Given the description of an element on the screen output the (x, y) to click on. 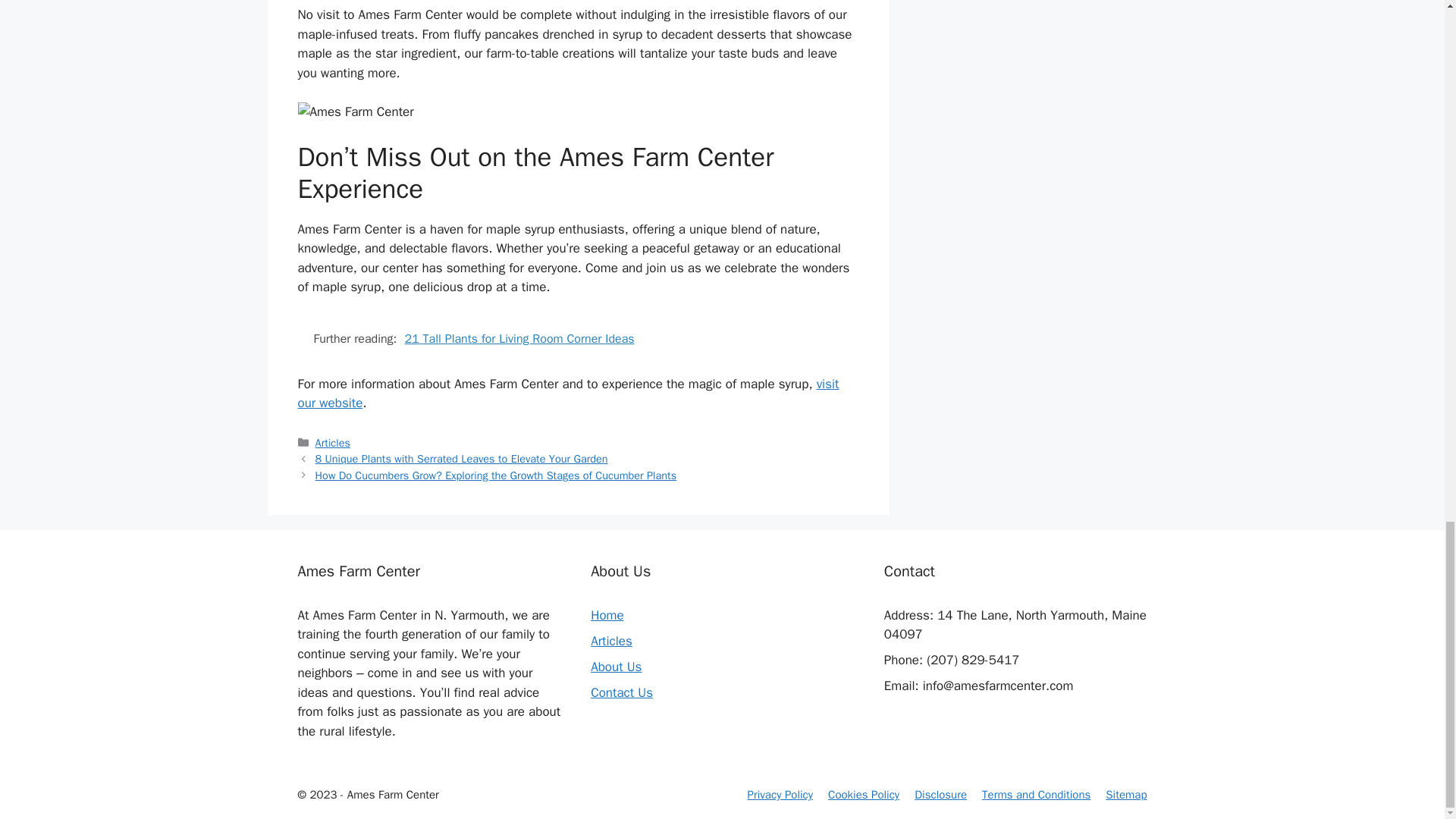
Articles (332, 442)
Contact Us (621, 692)
Terms and Conditions (1035, 794)
8 Unique Plants with Serrated Leaves to Elevate Your Garden (461, 459)
Home (607, 615)
visit our website (567, 393)
Articles (611, 641)
Disclosure (940, 794)
Sitemap (1126, 794)
Cookies Policy (863, 794)
About Us (616, 666)
Privacy Policy (780, 794)
